Given the description of an element on the screen output the (x, y) to click on. 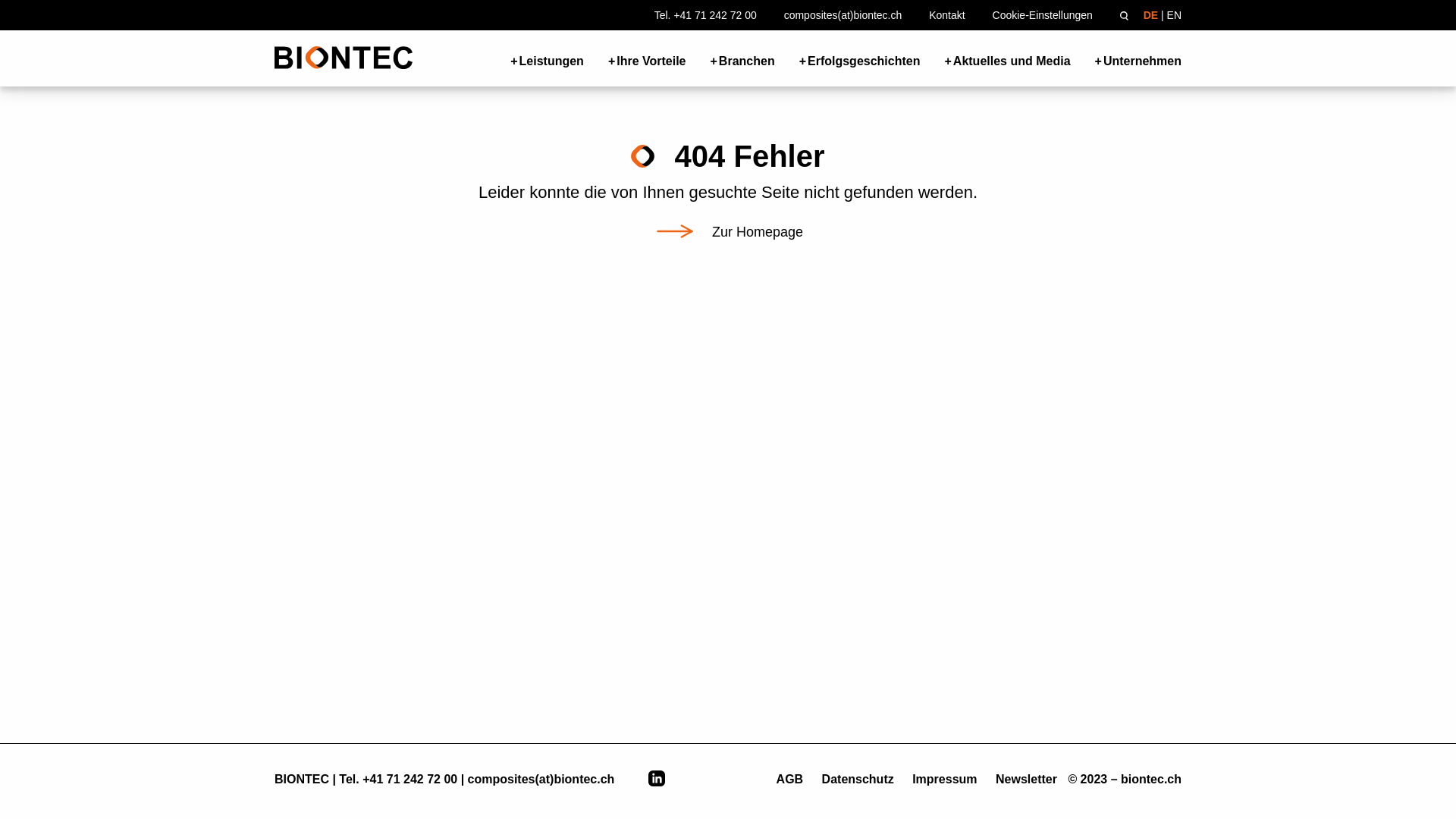
Datenschutz Element type: text (859, 778)
Kontakt Element type: text (946, 15)
DE Element type: text (1150, 15)
Aktuelles und Media Element type: text (1007, 58)
Newsletter Element type: text (1027, 778)
Ihre Vorteile Element type: text (647, 58)
Zur Homepage Element type: text (727, 231)
EN Element type: text (1174, 15)
Erfolgsgeschichten Element type: text (859, 58)
AGB Element type: text (795, 778)
Leistungen Element type: text (546, 58)
Branchen Element type: text (742, 58)
composites(at)biontec.ch Element type: text (843, 15)
Impressum Element type: text (946, 778)
+41 71 242 72 00 Element type: text (714, 15)
Cookie-Einstellungen Element type: text (1042, 15)
Unternehmen Element type: text (1138, 58)
+41 71 242 72 00 Element type: text (409, 778)
composites(at)biontec.ch Element type: text (541, 778)
